Given the description of an element on the screen output the (x, y) to click on. 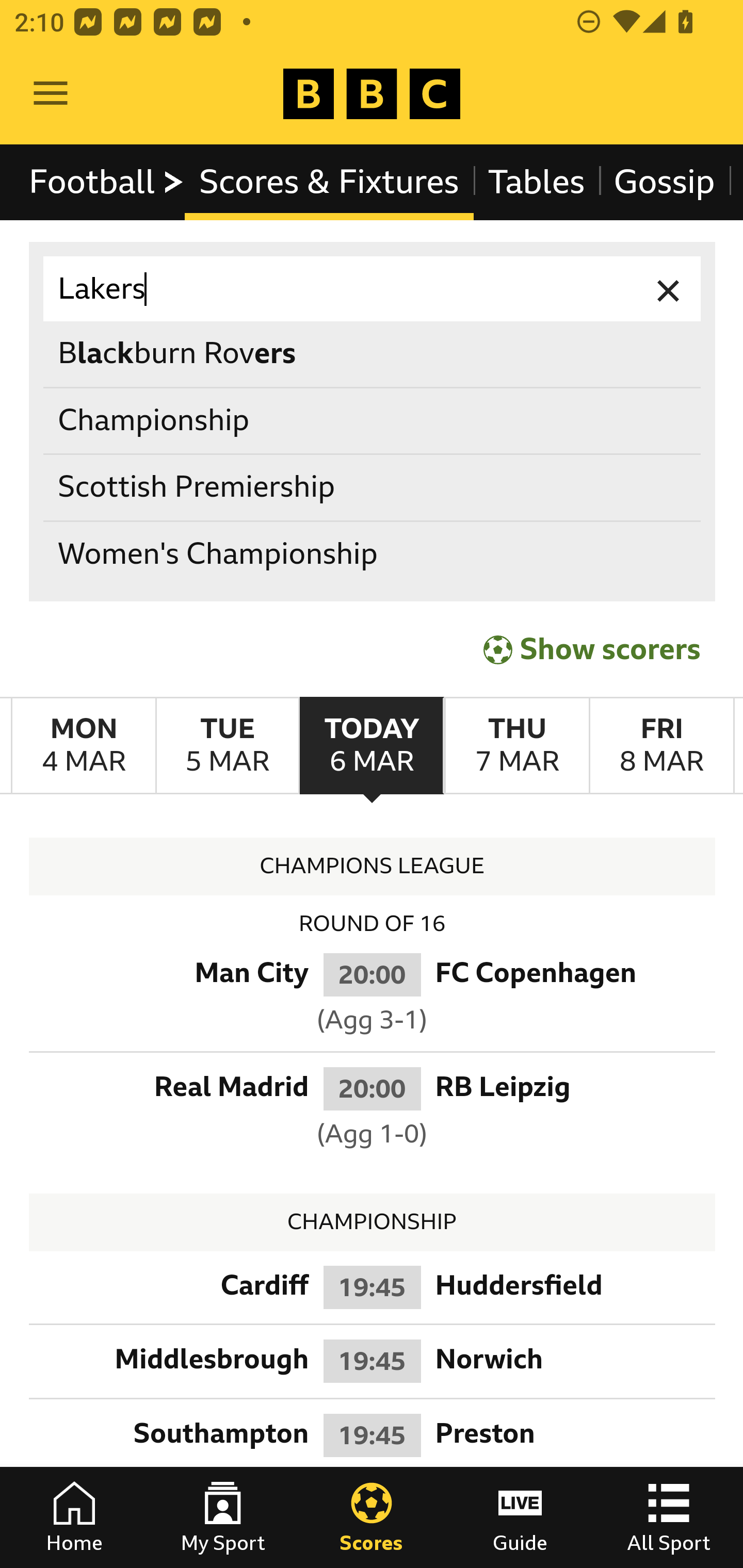
Open Menu (50, 93)
Football  (106, 181)
Scores & Fixtures (329, 181)
Tables (536, 181)
Gossip (664, 181)
Lakers (372, 289)
Clear input (669, 289)
Championship (372, 419)
Scottish Premiership (372, 488)
Women's Championship (372, 554)
Show scorers (591, 647)
MondayMarch 4th Monday March 4th (83, 745)
TuesdayMarch 5th Tuesday March 5th (227, 745)
ThursdayMarch 7th Thursday March 7th (516, 745)
FridayMarch 8th Friday March 8th (661, 745)
Home (74, 1517)
My Sport (222, 1517)
Guide (519, 1517)
All Sport (668, 1517)
